Given the description of an element on the screen output the (x, y) to click on. 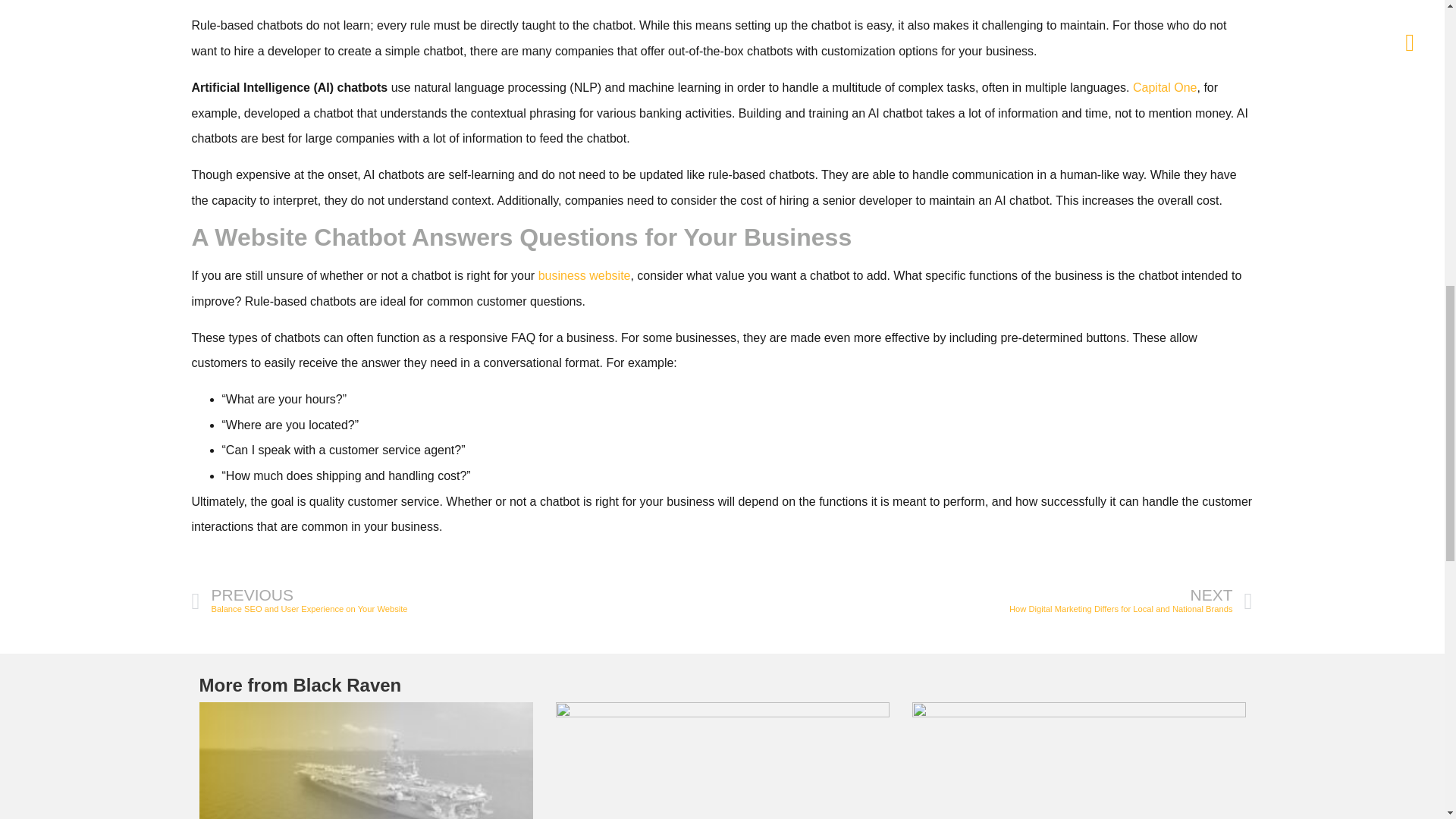
Capital One (456, 601)
business website (1164, 87)
